Given the description of an element on the screen output the (x, y) to click on. 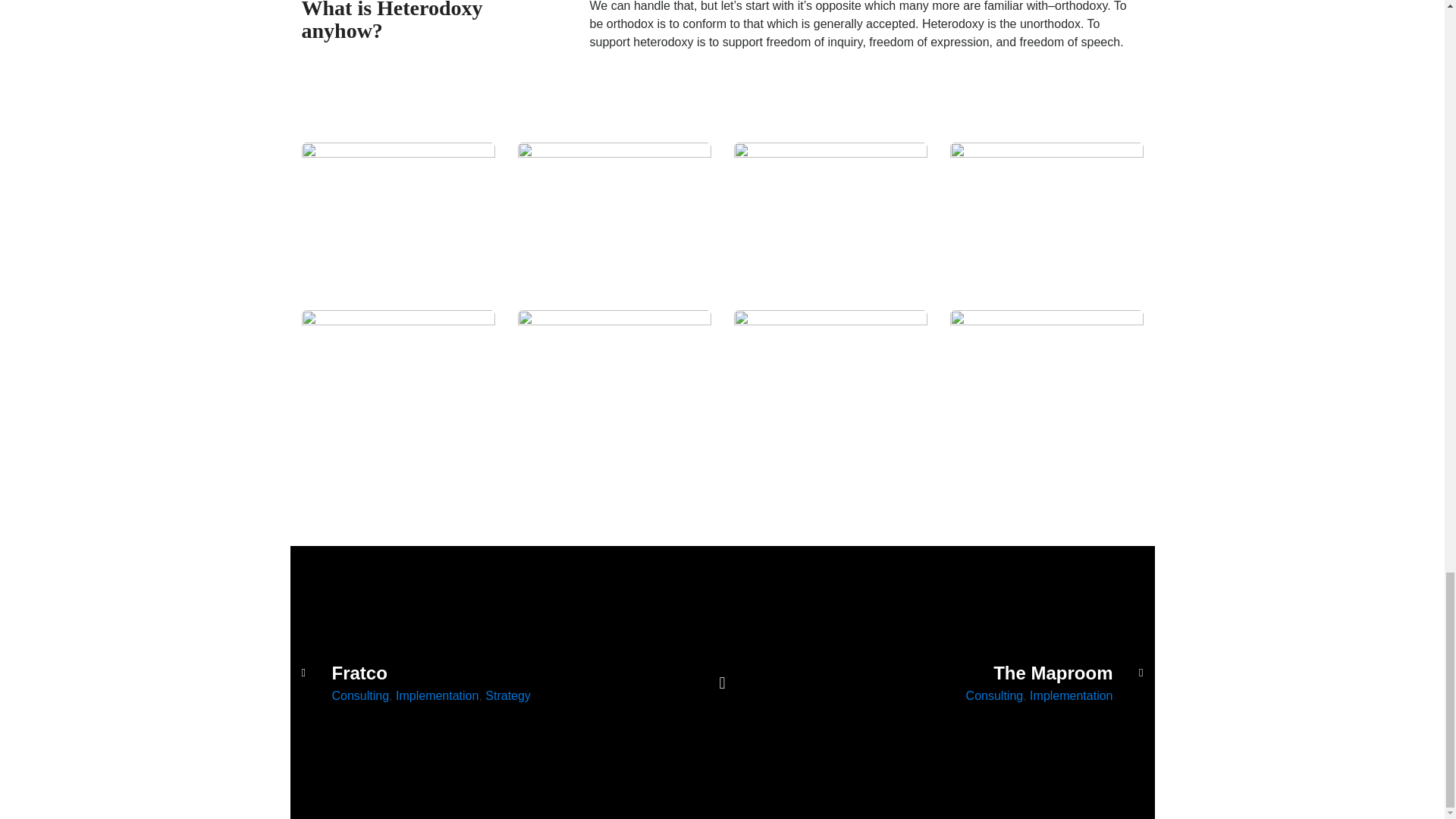
The Maproom (973, 673)
Strategy (507, 695)
Implementation (437, 695)
Fratco (470, 673)
Consulting (360, 695)
